Given the description of an element on the screen output the (x, y) to click on. 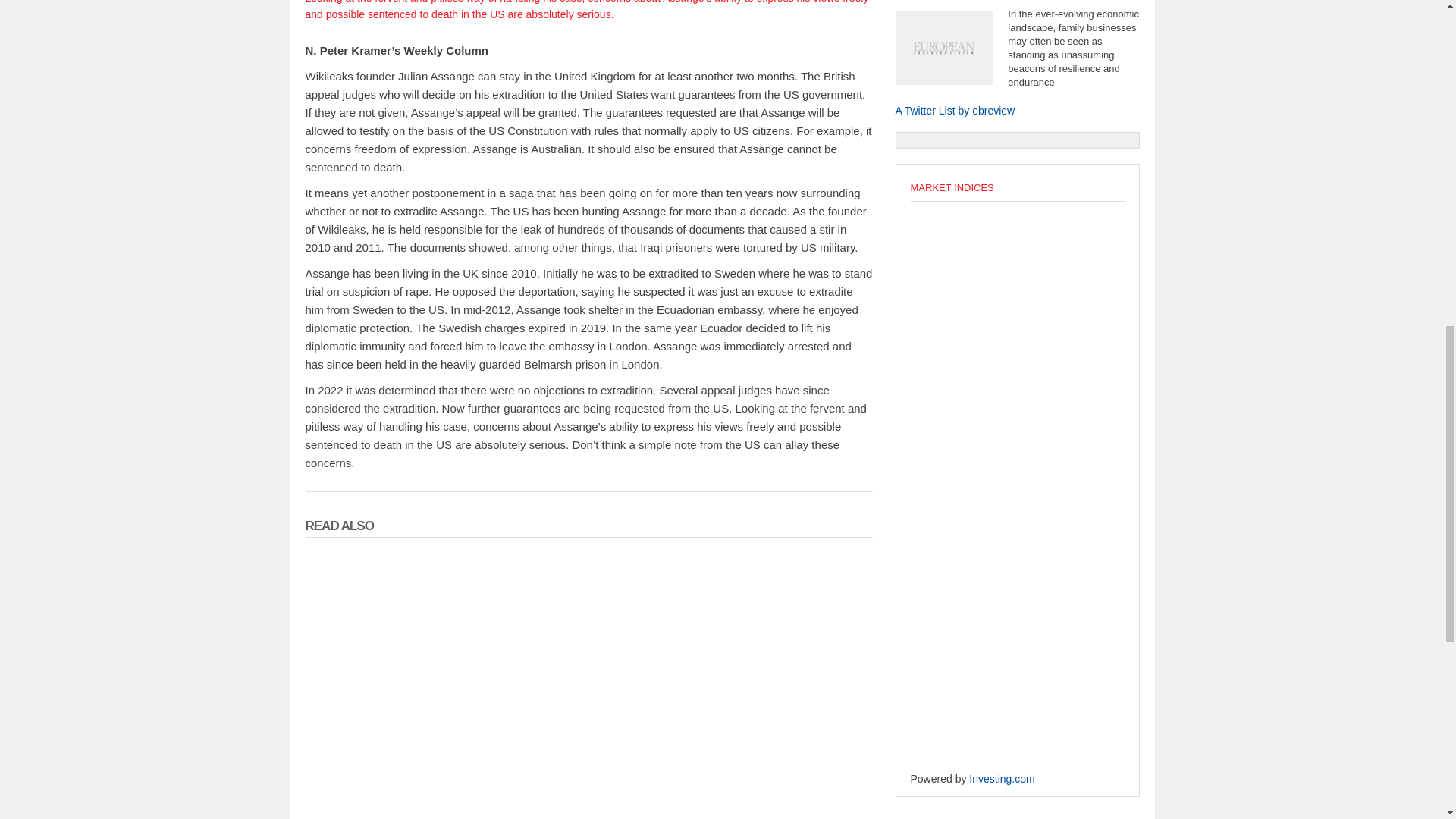
Family businesses might come to dominate the business world (1001, 1)
Investing.com (1001, 778)
A Twitter List by ebreview (954, 110)
